Given the description of an element on the screen output the (x, y) to click on. 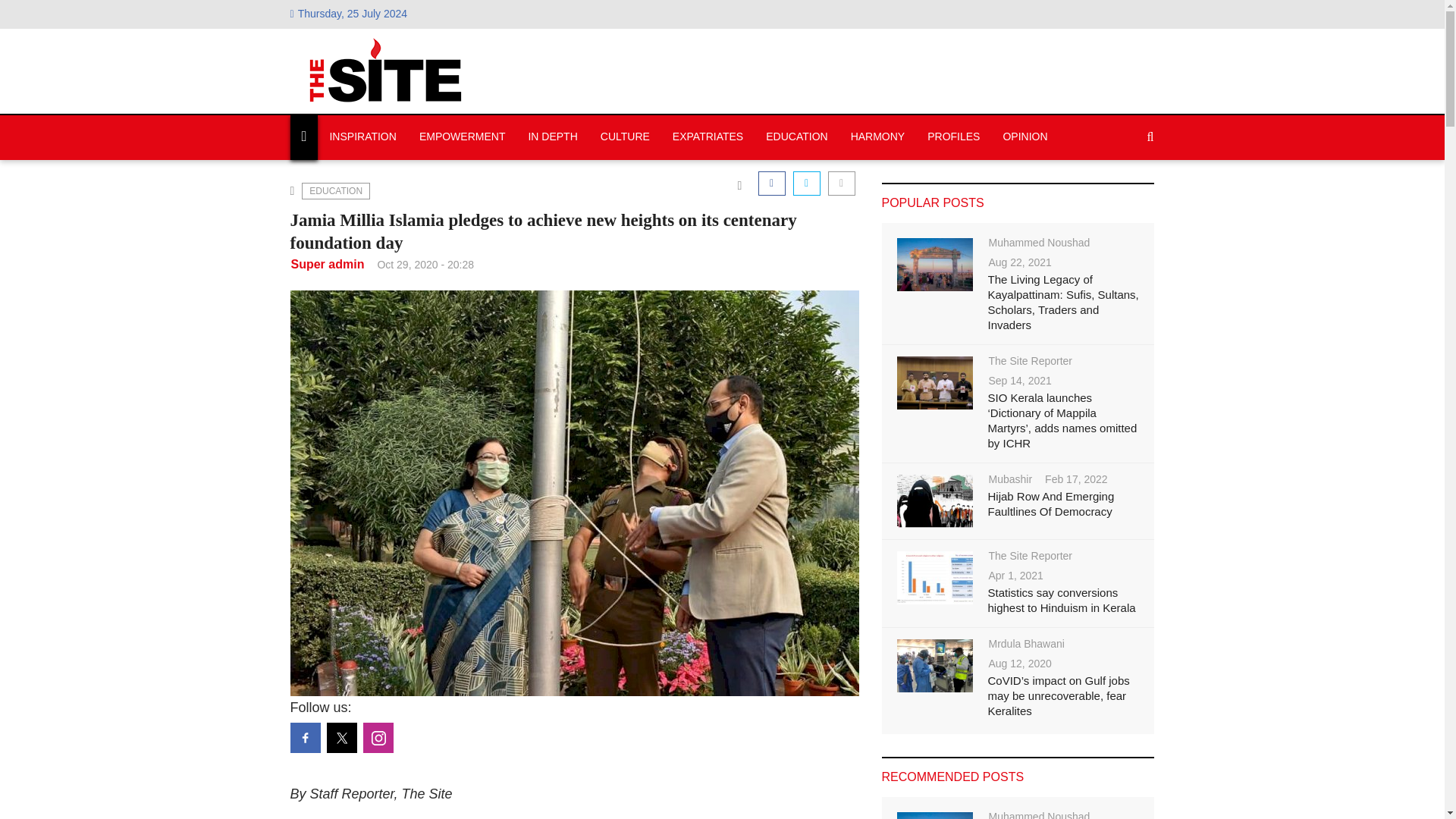
Super admin (327, 264)
EDUCATION (796, 137)
Oct 29, 2020 - 20:28 (424, 264)
CULTURE (625, 137)
OPINION (1024, 137)
EDUCATION (335, 190)
EMPOWERMENT (461, 137)
PROFILES (953, 137)
HARMONY (878, 137)
IN DEPTH (552, 137)
EXPATRIATES (707, 137)
INSPIRATION (362, 137)
